Given the description of an element on the screen output the (x, y) to click on. 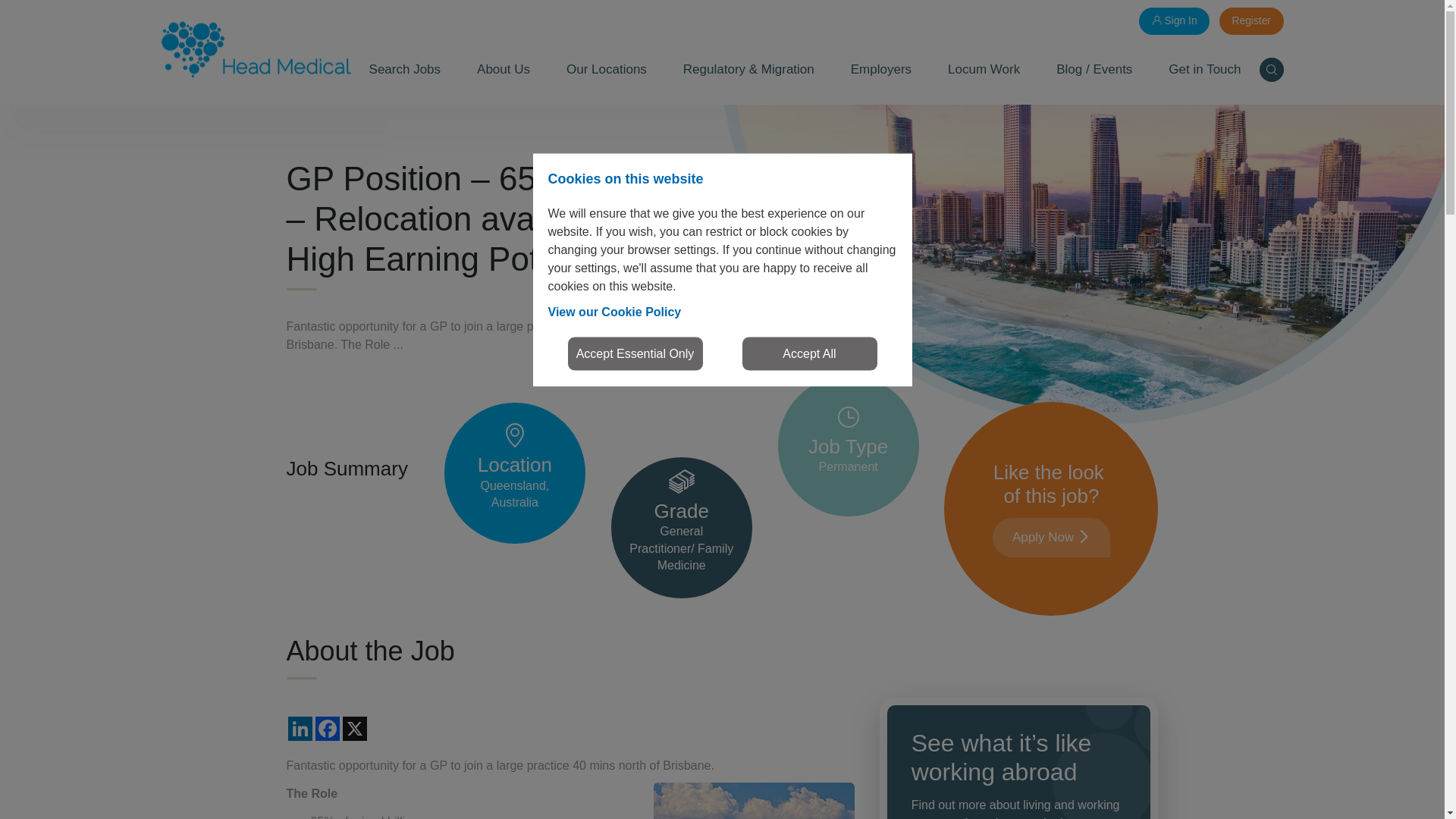
About Us (503, 69)
Locum Work (984, 69)
Get in Touch (1204, 69)
Search Jobs (405, 69)
Our Locations (606, 69)
Toggle Search (1270, 70)
Register (1252, 21)
Head Medical (255, 48)
Employers (881, 69)
Sign In (1173, 21)
